Given the description of an element on the screen output the (x, y) to click on. 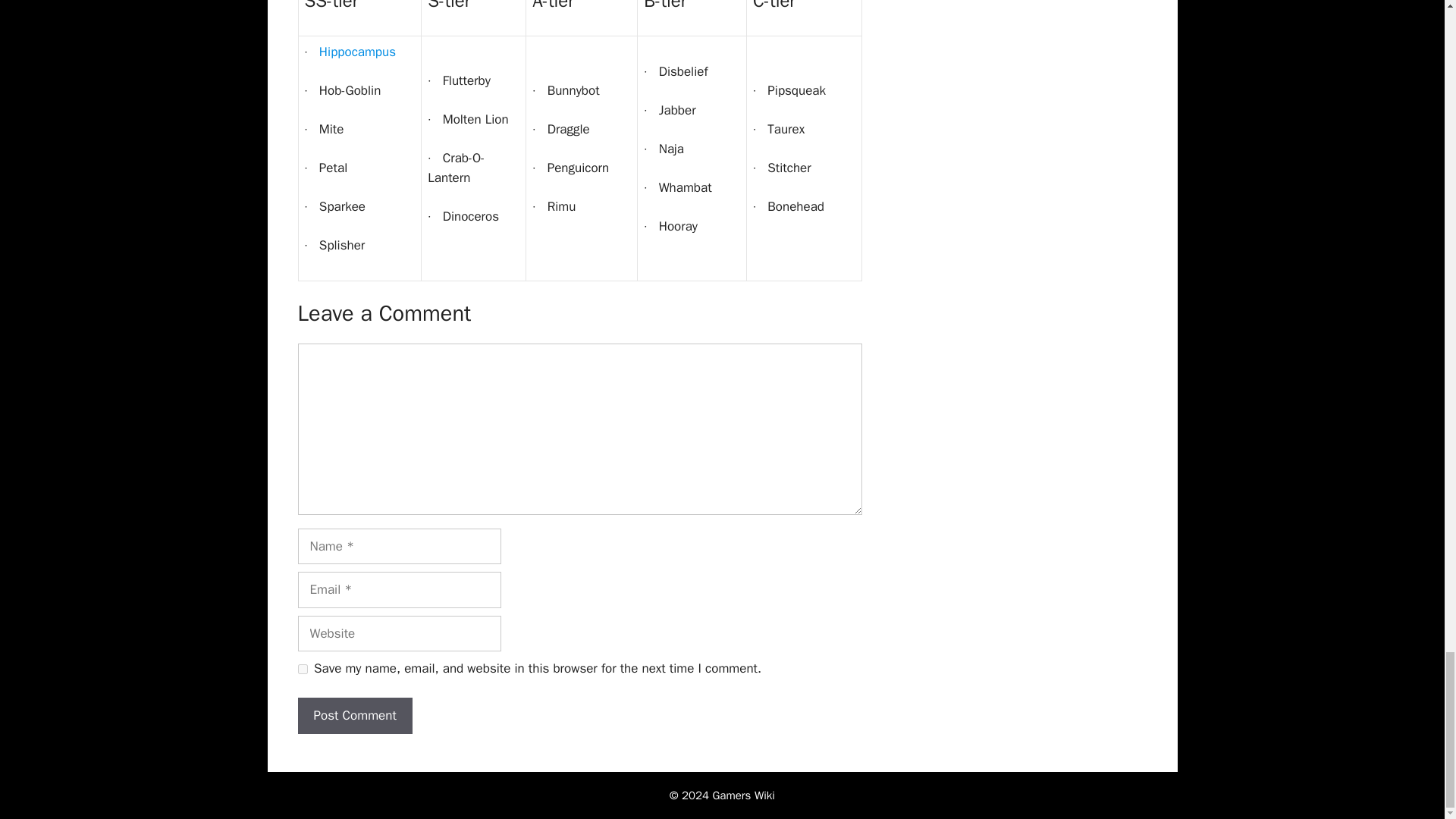
yes (302, 669)
Hippocampus (357, 51)
Post Comment (354, 715)
Post Comment (354, 715)
